Given the description of an element on the screen output the (x, y) to click on. 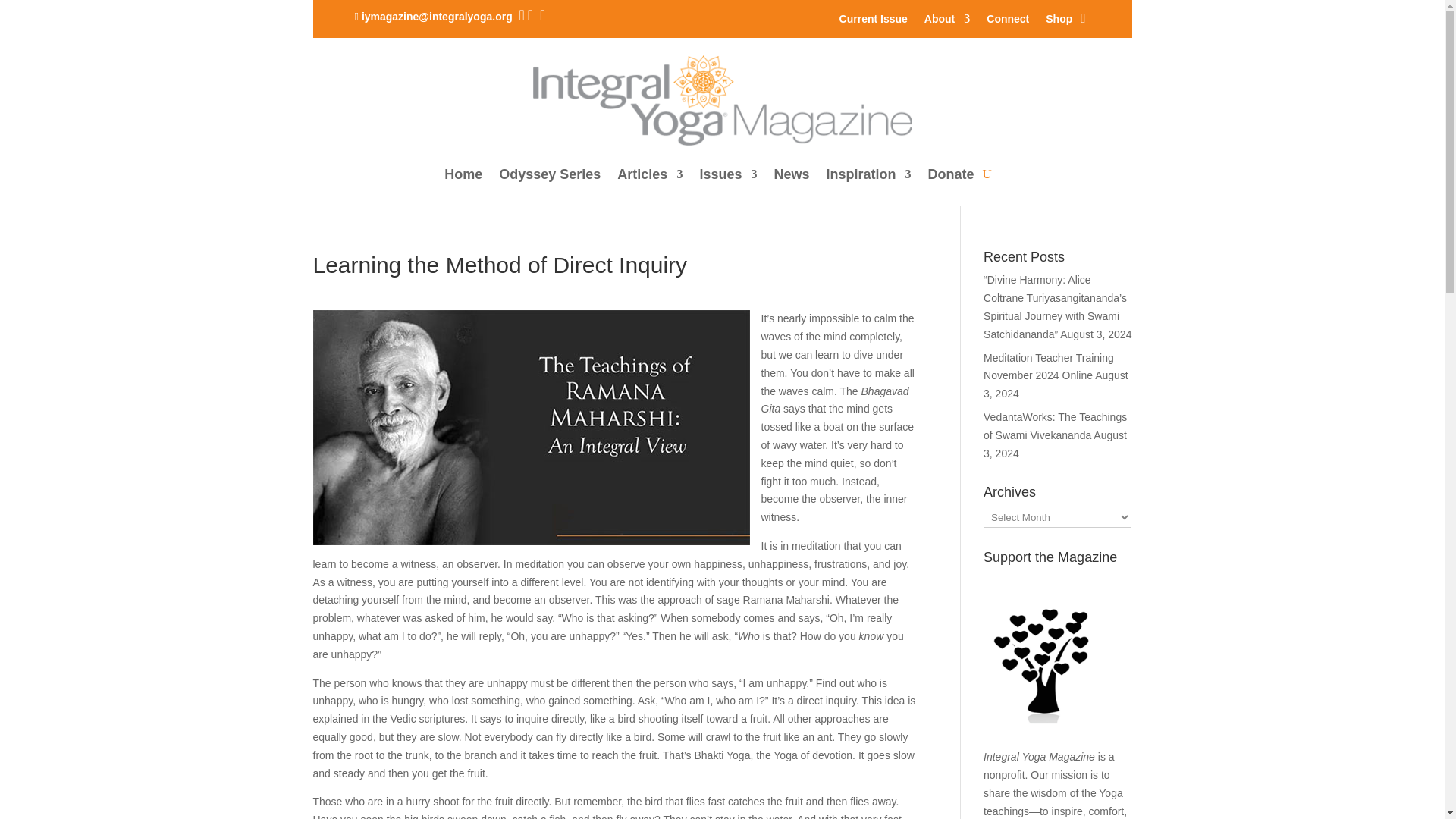
About (946, 21)
Shop (1058, 21)
Odyssey Series (549, 174)
Connect (1008, 21)
Articles (649, 174)
Current Issue (873, 21)
